Given the description of an element on the screen output the (x, y) to click on. 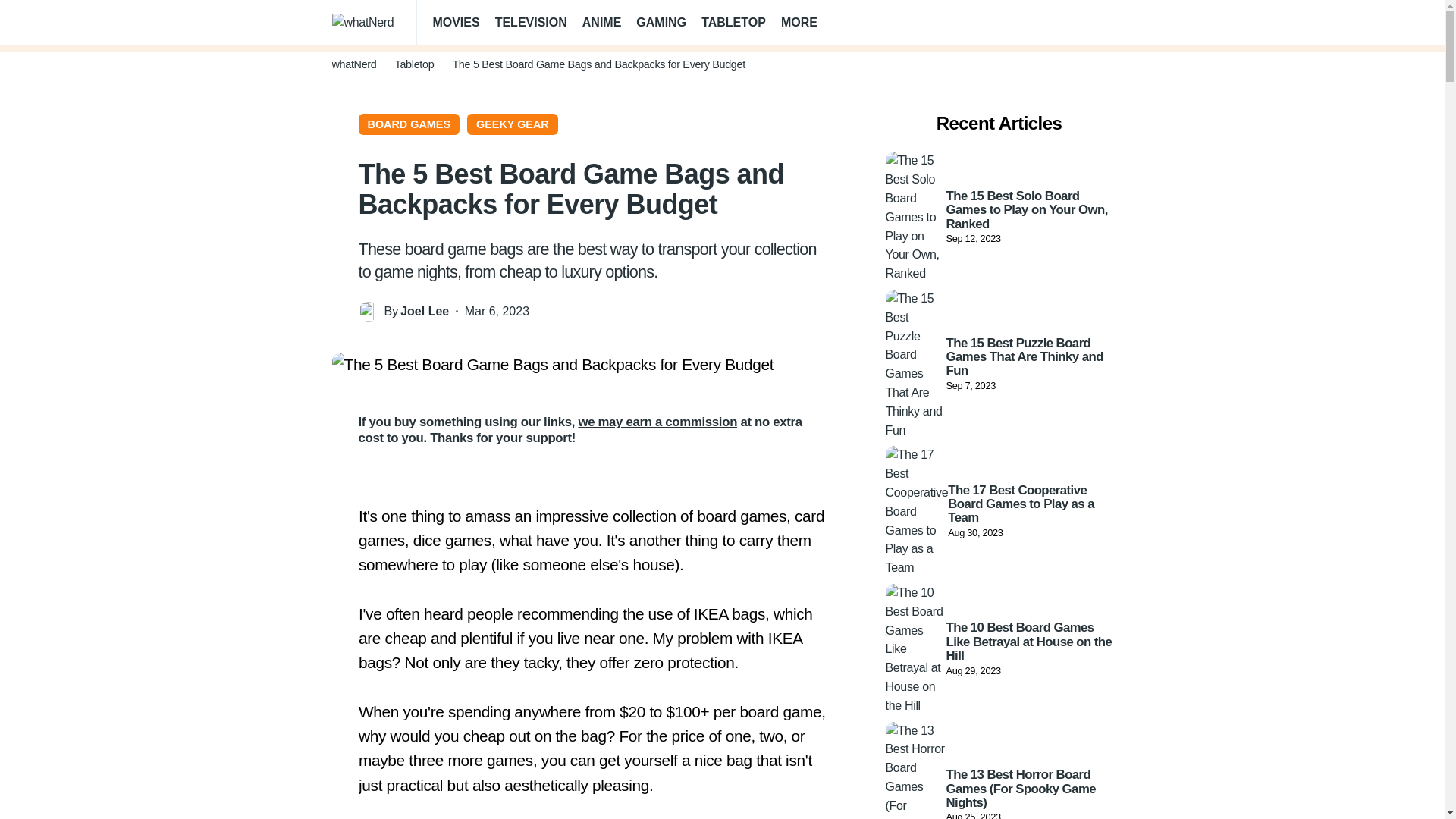
GAMING (660, 22)
TELEVISION (531, 22)
MOVIES (455, 22)
TABLETOP (733, 22)
whatNerd (354, 64)
View all posts by Joel Lee (424, 311)
MORE (805, 22)
The 5 Best Board Game Bags and Backpacks for Every Budget (552, 364)
